Given the description of an element on the screen output the (x, y) to click on. 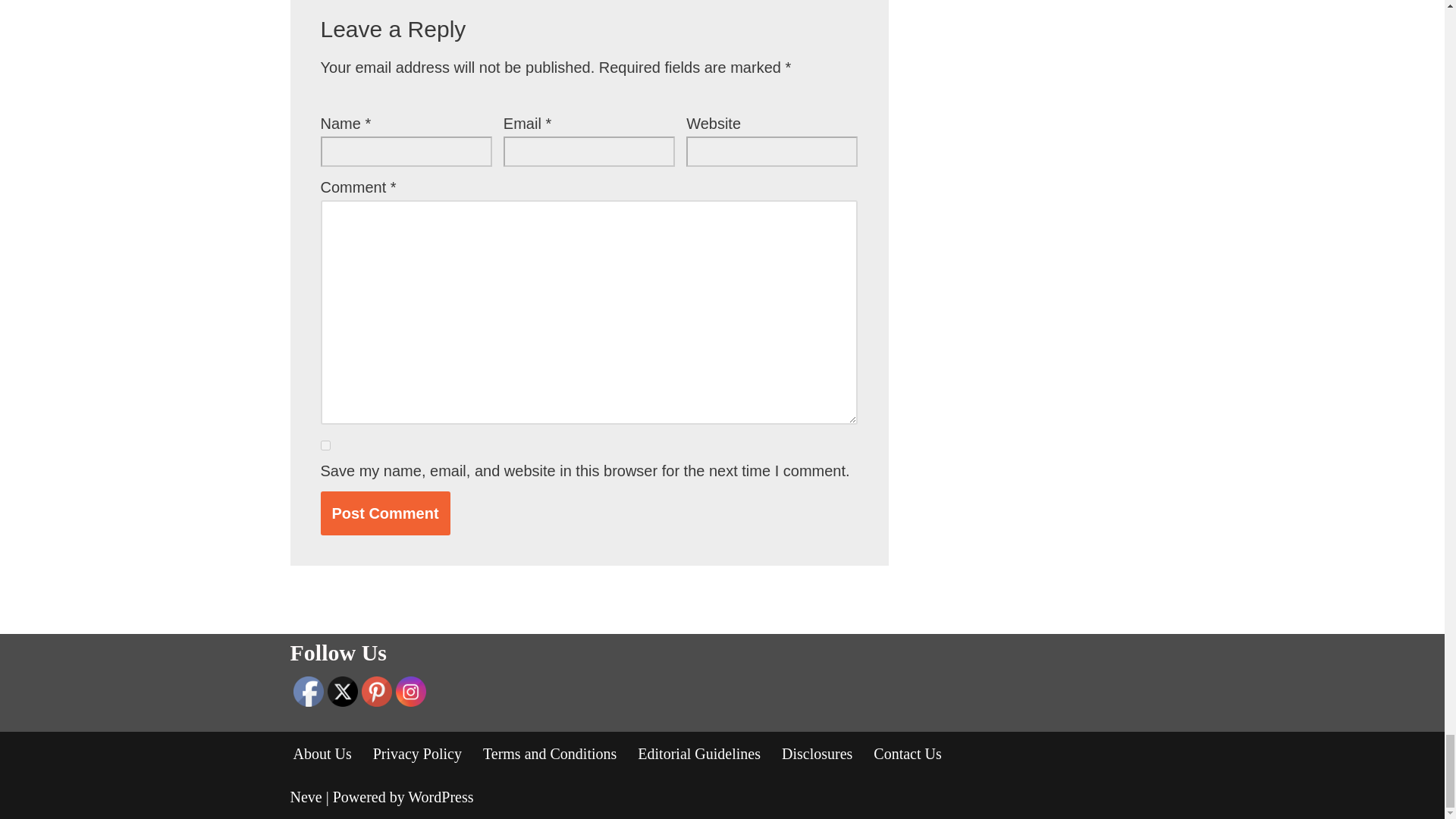
Post Comment (384, 512)
Post Comment (384, 512)
Facebook (307, 690)
yes (325, 445)
